Given the description of an element on the screen output the (x, y) to click on. 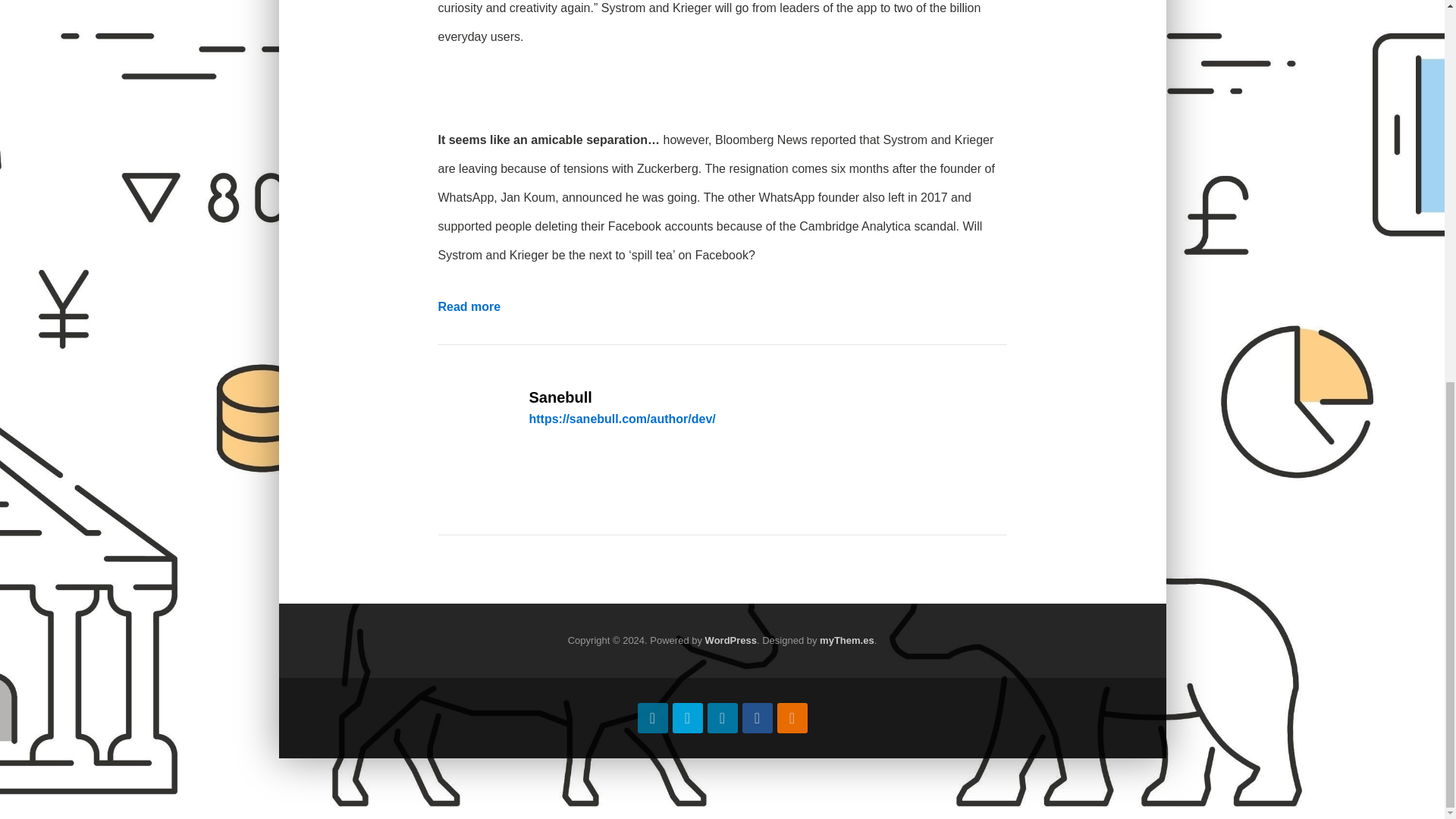
myThem.es (847, 641)
Read more (469, 307)
WordPress (730, 641)
myThem.es (847, 641)
